Given the description of an element on the screen output the (x, y) to click on. 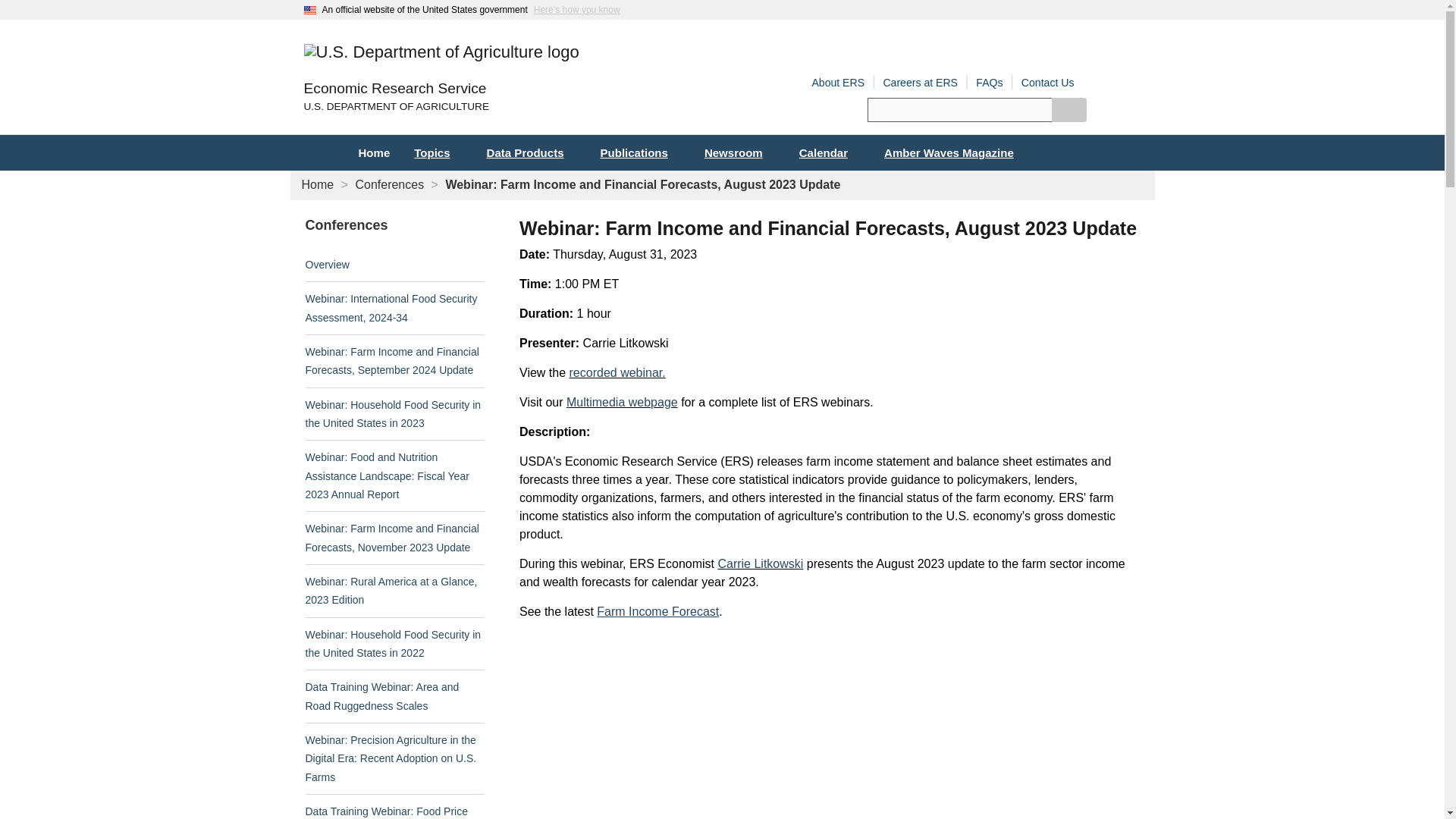
Multimedia webpage (622, 401)
Contact Us (1048, 81)
Carrie Litkowski (760, 563)
U.S. DEPARTMENT OF AGRICULTURE (512, 107)
Overview (326, 264)
USDA.gov (512, 107)
Data Products (531, 152)
Careers at ERS (920, 81)
